Given the description of an element on the screen output the (x, y) to click on. 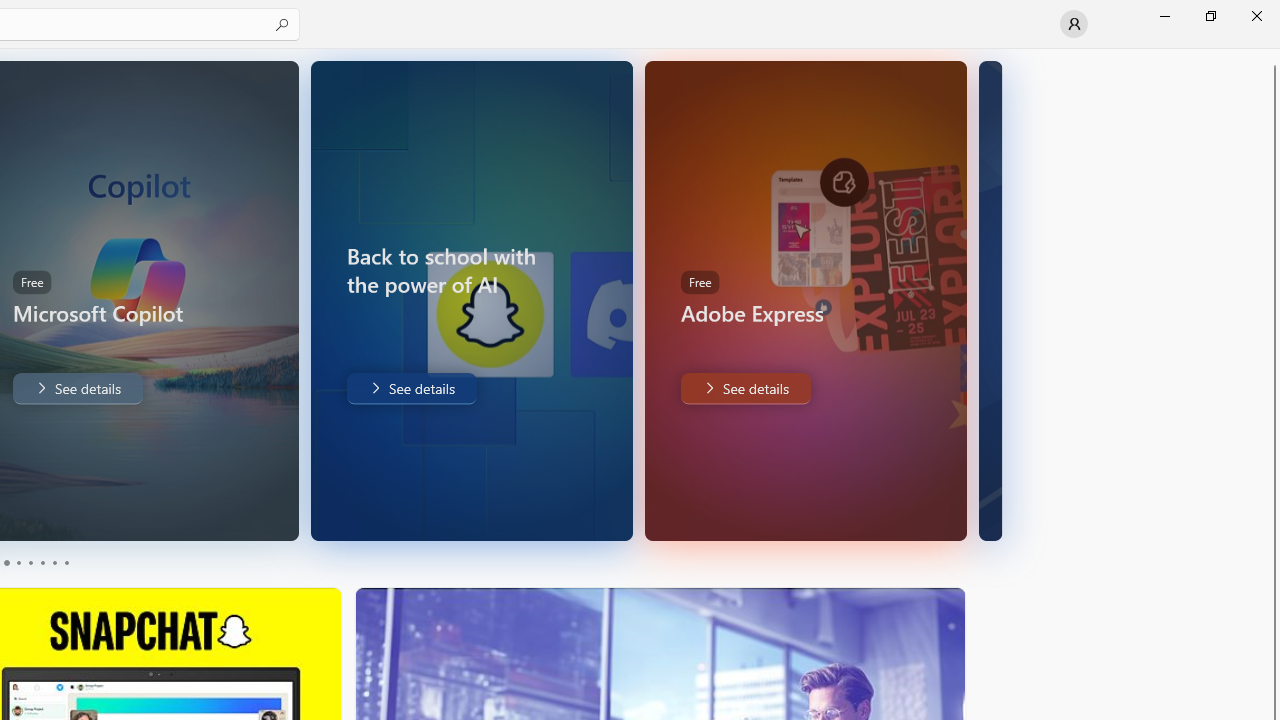
Restore Microsoft Store (1210, 15)
